Given the description of an element on the screen output the (x, y) to click on. 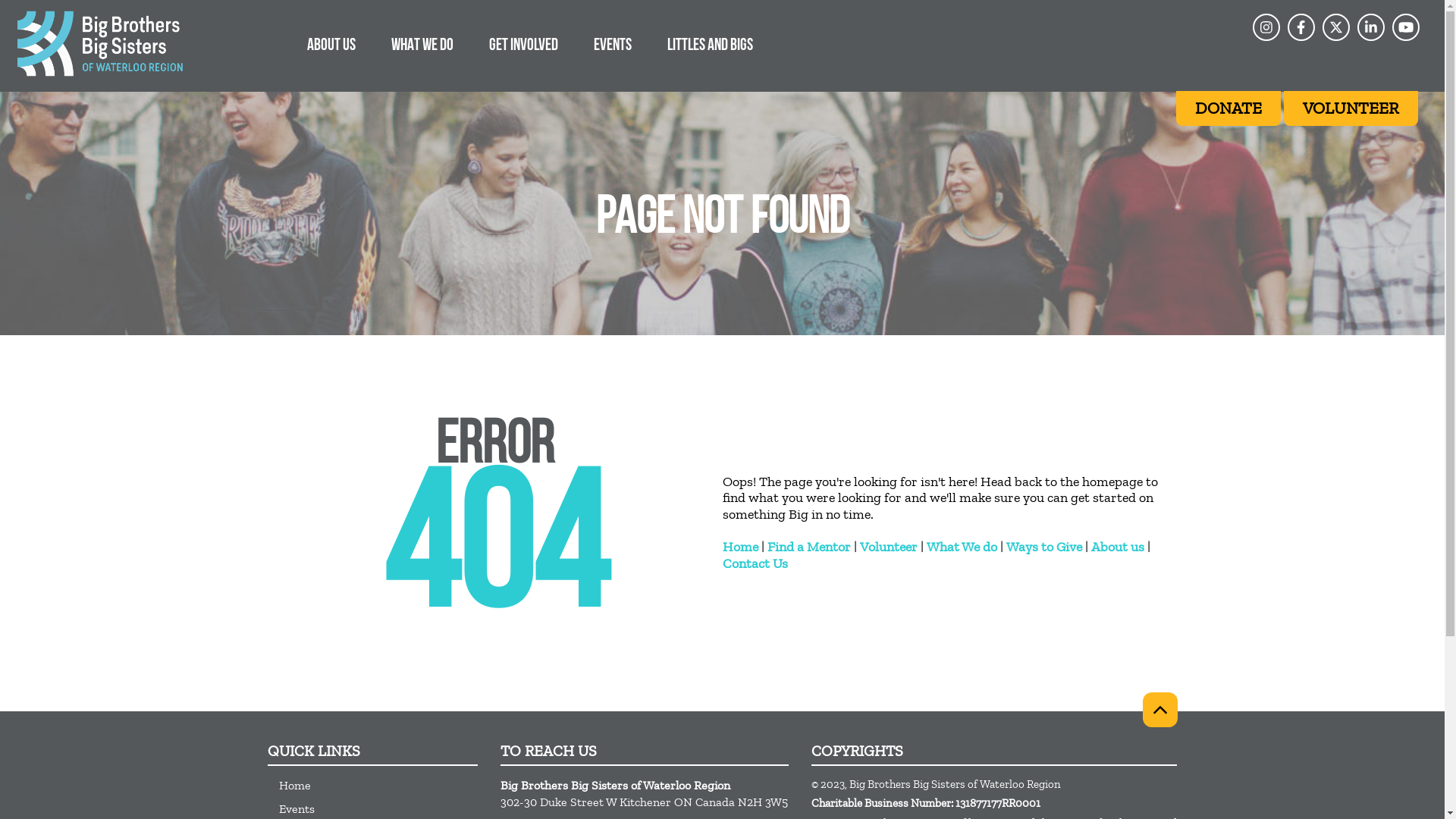
Volunteer Element type: text (888, 546)
Contact Us Element type: text (754, 563)
EVENTS Element type: text (612, 44)
WHAT WE DO Element type: text (422, 44)
VOLUNTEER Element type: text (1350, 108)
About us Element type: text (1116, 546)
Ways to Give Element type: text (1043, 546)
What We do Element type: text (961, 546)
Home Element type: text (378, 785)
DONATE Element type: text (1228, 108)
Home Element type: text (739, 546)
GET INVOLVED Element type: text (523, 44)
Find a Mentor Element type: text (808, 546)
LITTLES AND BIGS Element type: text (710, 44)
Events Element type: text (378, 808)
ABOUT US Element type: text (330, 44)
